Given the description of an element on the screen output the (x, y) to click on. 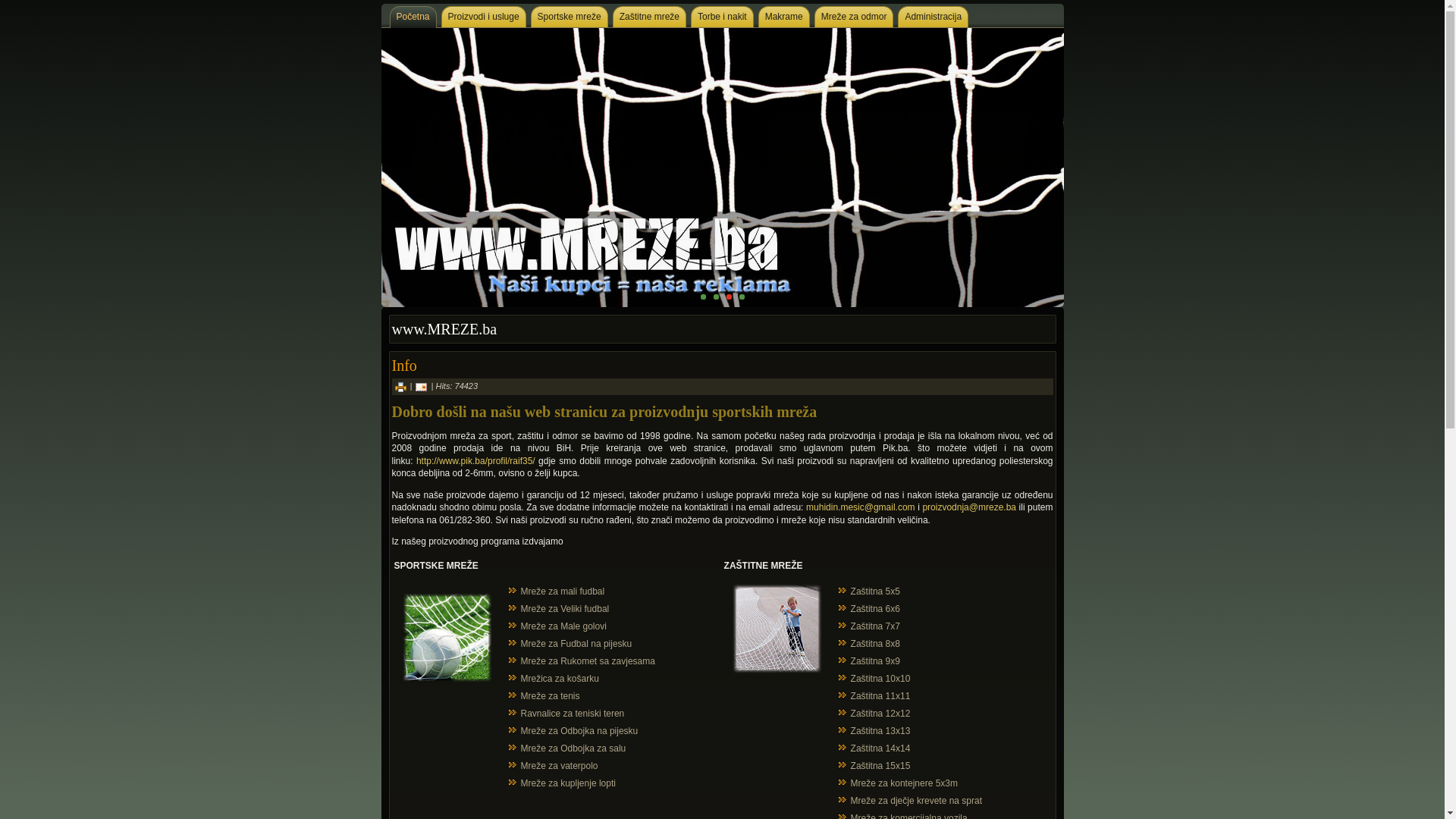
Print Element type: hover (399, 385)
Info Element type: text (403, 365)
Proizvodi i usluge Element type: text (483, 16)
Torbe i nakit Element type: text (721, 16)
proizvodnja@mreze.ba Element type: text (969, 507)
Makrame Element type: text (783, 16)
muhidin.mesic@gmail.com Element type: text (860, 507)
Administracija Element type: text (932, 16)
http://www.pik.ba/profil/raif35/ Element type: text (475, 460)
